Given the description of an element on the screen output the (x, y) to click on. 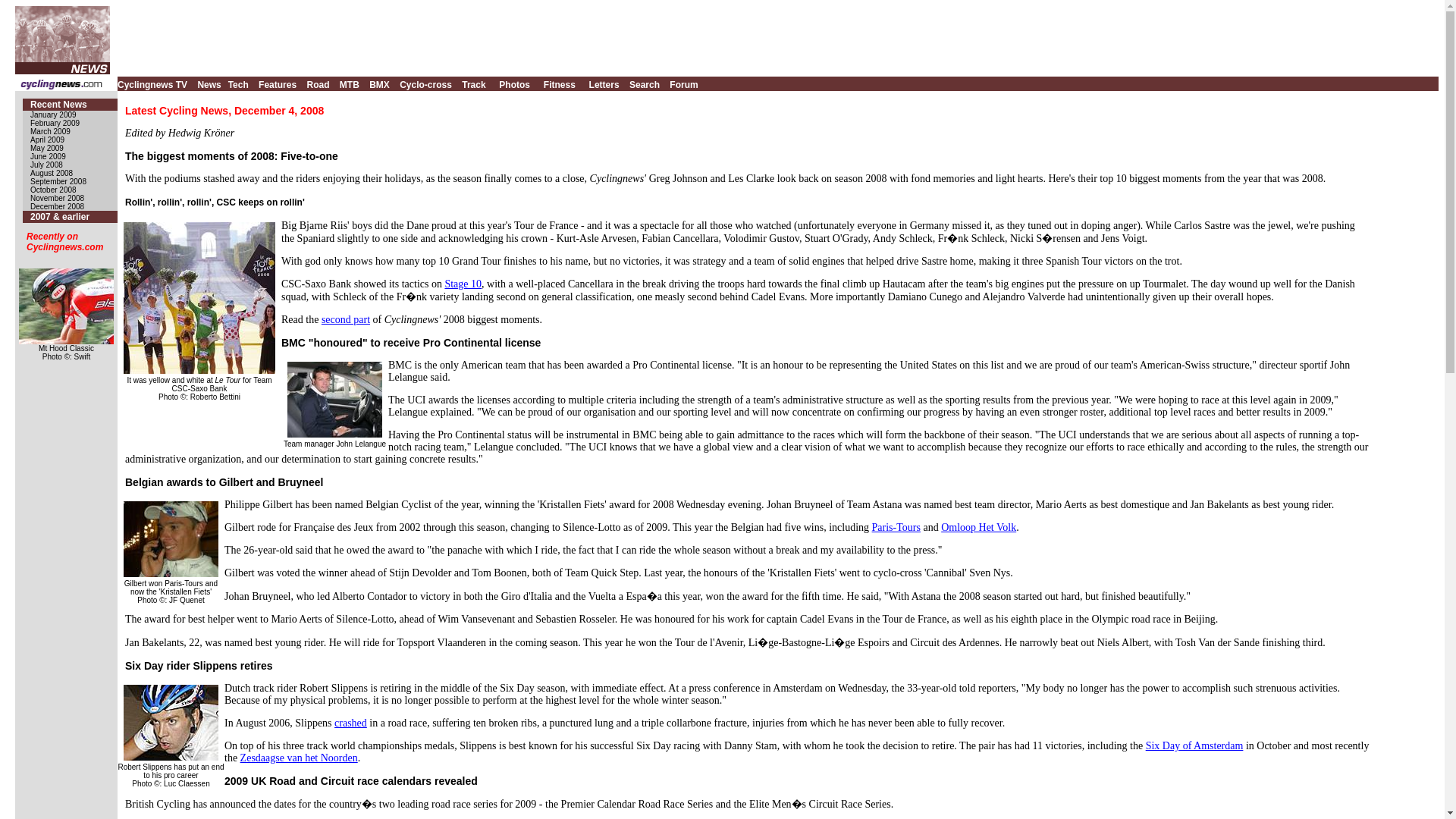
BMX (379, 83)
Cyclo-cross (424, 83)
Photos (514, 83)
Omloop Het Volk (978, 527)
December 2008 (57, 206)
October 2008 (53, 189)
January 2009 (53, 114)
November 2008 (57, 198)
September 2008 (57, 181)
MTB (349, 83)
June 2009 (47, 156)
Recent News (58, 104)
Features (278, 83)
second part (345, 319)
Fitness (559, 83)
